Given the description of an element on the screen output the (x, y) to click on. 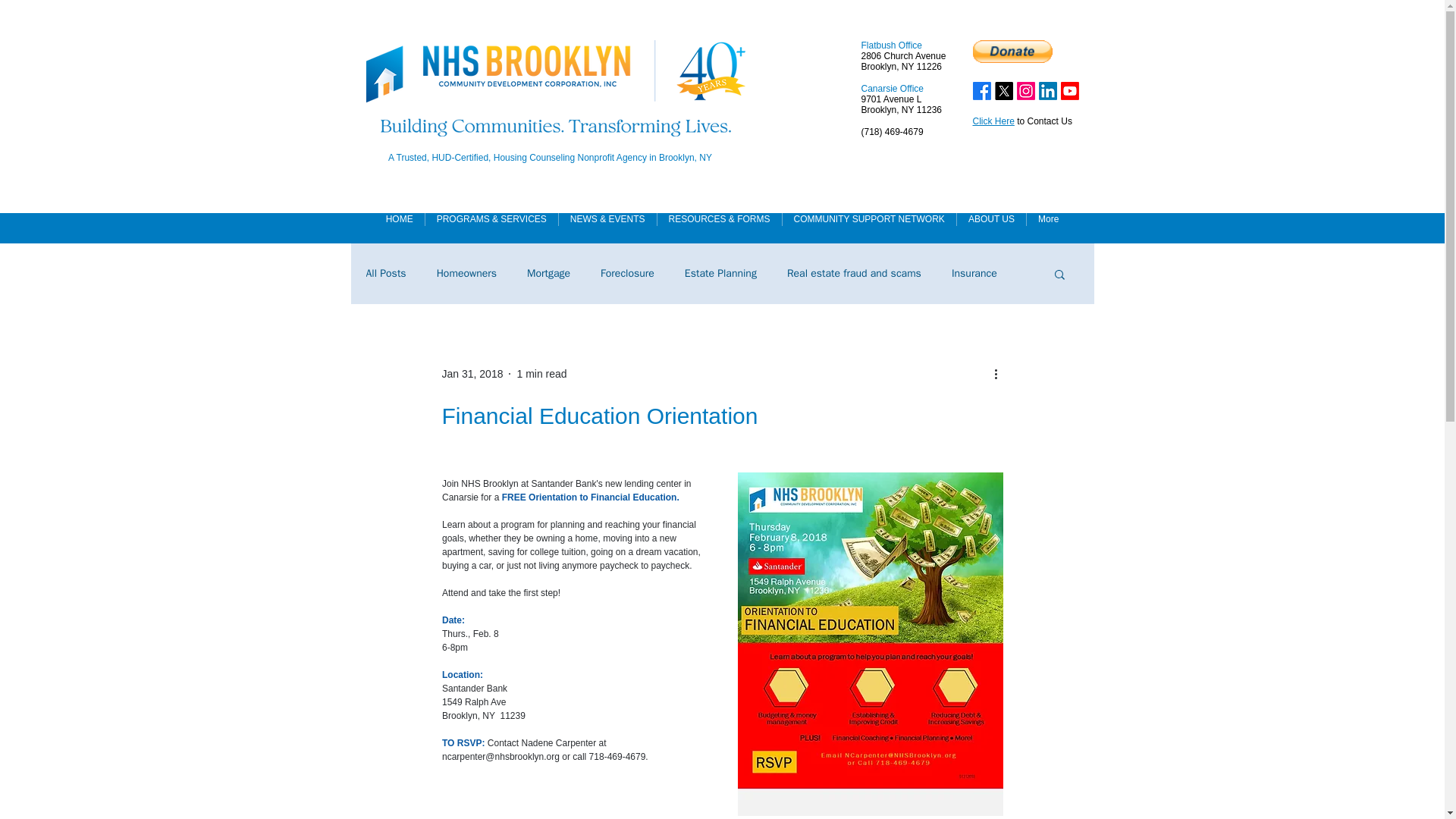
Jan 31, 2018 (471, 372)
HOME (399, 227)
Click Here to Contact Us (1021, 121)
COMMUNITY SUPPORT NETWORK (868, 227)
1 min read (541, 372)
